Given the description of an element on the screen output the (x, y) to click on. 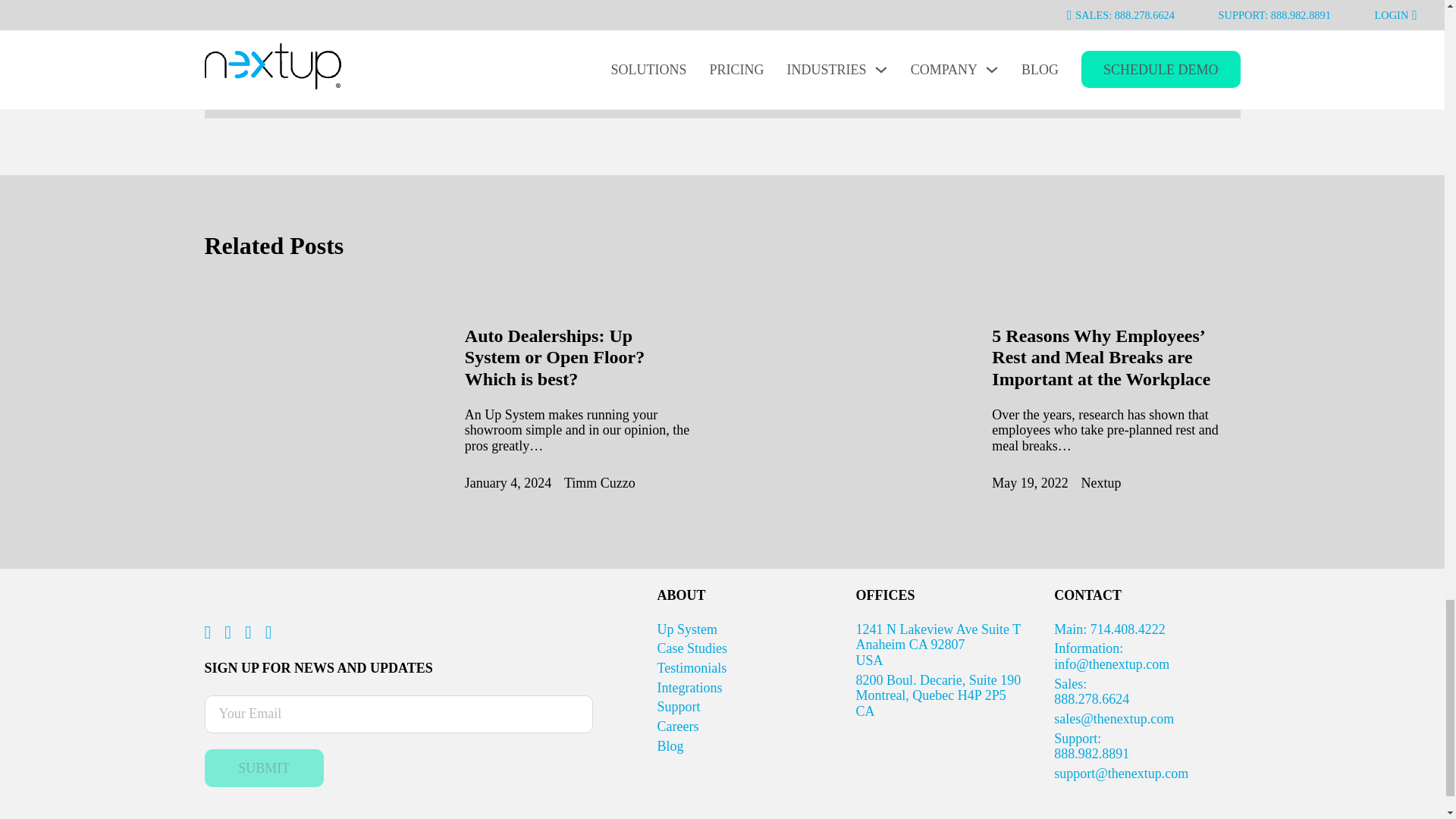
Testimonials (692, 667)
Up System (687, 629)
Case Studies (554, 357)
SUBMIT (693, 648)
LinkedIn (264, 768)
